Given the description of an element on the screen output the (x, y) to click on. 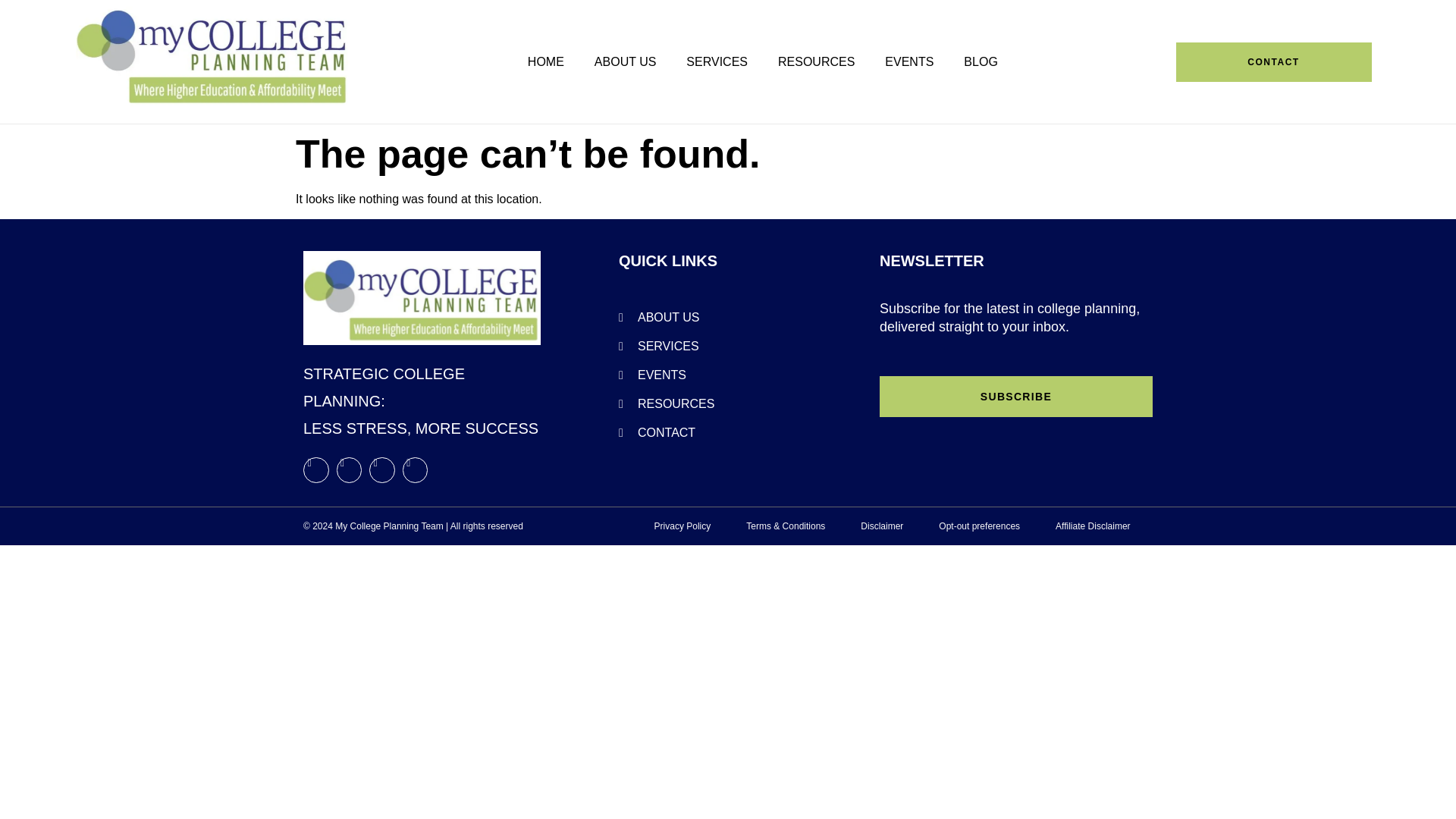
SERVICES (716, 61)
HOME (545, 61)
ABOUT US (625, 61)
